Given the description of an element on the screen output the (x, y) to click on. 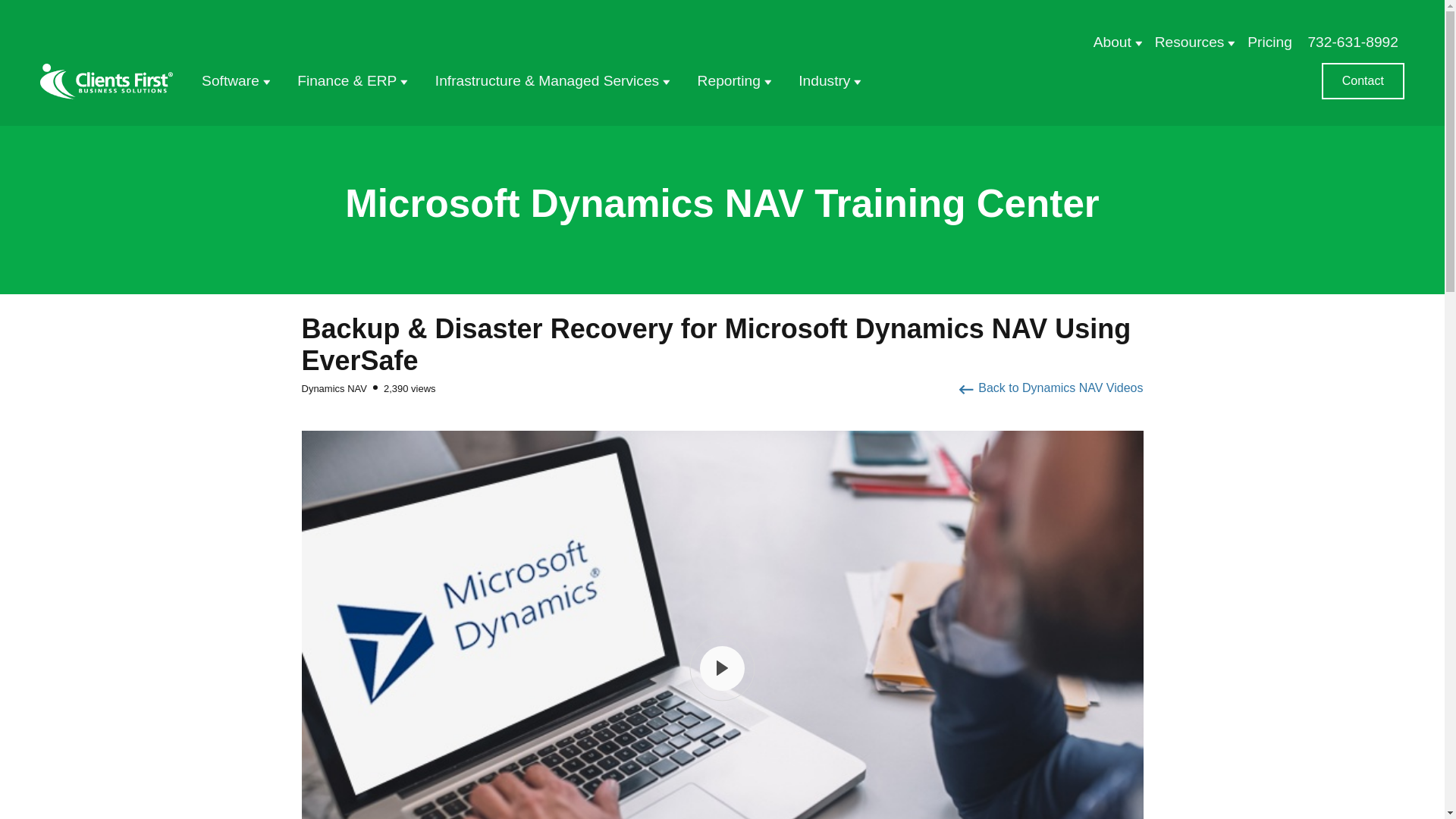
Software (234, 80)
Clients First Home (106, 81)
Opens a widget where you can chat to one of our agents (1386, 792)
Industry (828, 80)
Reporting (732, 80)
